Given the description of an element on the screen output the (x, y) to click on. 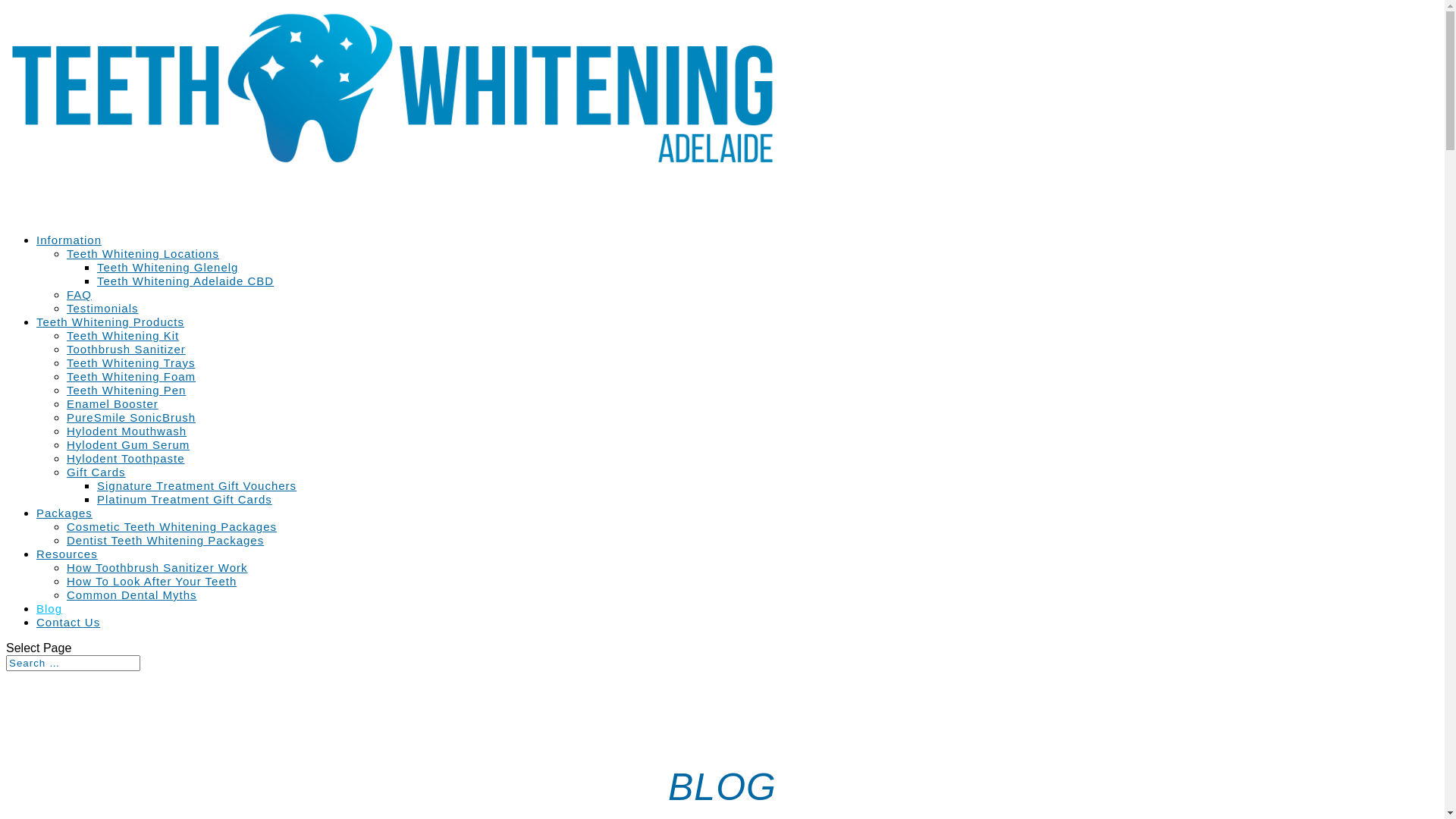
FAQ Element type: text (78, 294)
Platinum Treatment Gift Cards Element type: text (184, 498)
Teeth Whitening Adelaide CBD Element type: text (185, 280)
Cosmetic Teeth Whitening Packages Element type: text (171, 526)
Blog Element type: text (49, 631)
Gift Cards Element type: text (95, 471)
Resources Element type: text (66, 576)
Dentist Teeth Whitening Packages Element type: text (164, 539)
Toothbrush Sanitizer Element type: text (125, 348)
Signature Treatment Gift Vouchers Element type: text (196, 485)
Search for: Element type: hover (73, 663)
Testimonials Element type: text (102, 307)
Hylodent Gum Serum Element type: text (127, 444)
Hylodent Mouthwash Element type: text (126, 430)
Teeth Whitening Glenelg Element type: text (167, 266)
Teeth Whitening Locations Element type: text (142, 253)
How Toothbrush Sanitizer Work Element type: text (156, 567)
Hylodent Toothpaste Element type: text (125, 457)
Contact Us Element type: text (68, 644)
Teeth Whitening Foam Element type: text (130, 376)
Teeth Whitening Pen Element type: text (125, 389)
Information Element type: text (68, 262)
Common Dental Myths Element type: text (131, 594)
How To Look After Your Teeth Element type: text (151, 580)
PureSmile SonicBrush Element type: text (130, 417)
Teeth Whitening Kit Element type: text (122, 335)
Teeth Whitening Trays Element type: text (130, 362)
Teeth Whitening Products Element type: text (110, 344)
Packages Element type: text (64, 535)
Enamel Booster Element type: text (112, 403)
